Given the description of an element on the screen output the (x, y) to click on. 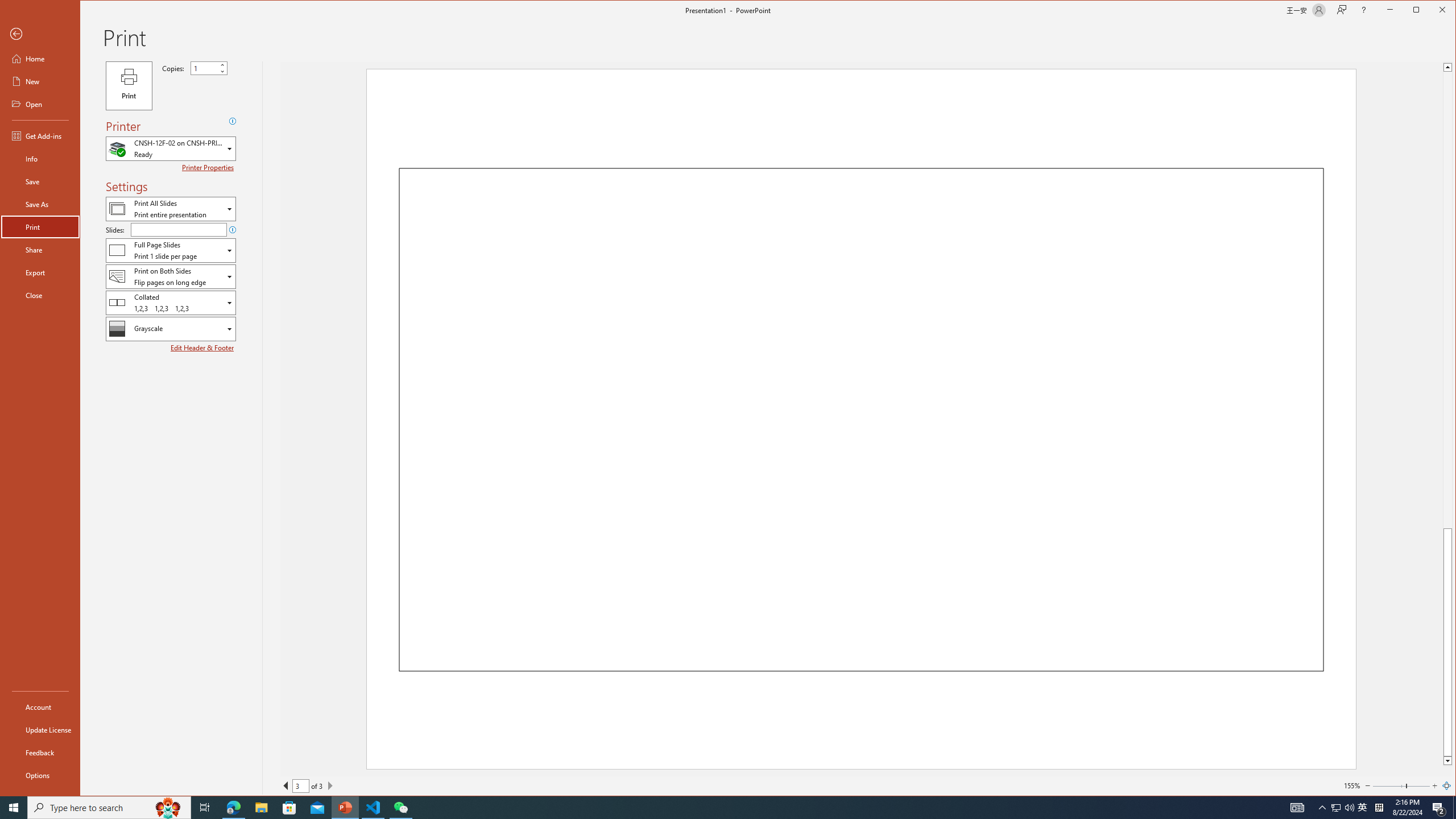
Back (40, 34)
Page right (1418, 785)
Edit Header & Footer (202, 347)
Previous Page (285, 785)
Update License (40, 729)
New (40, 80)
Collation (170, 302)
